Given the description of an element on the screen output the (x, y) to click on. 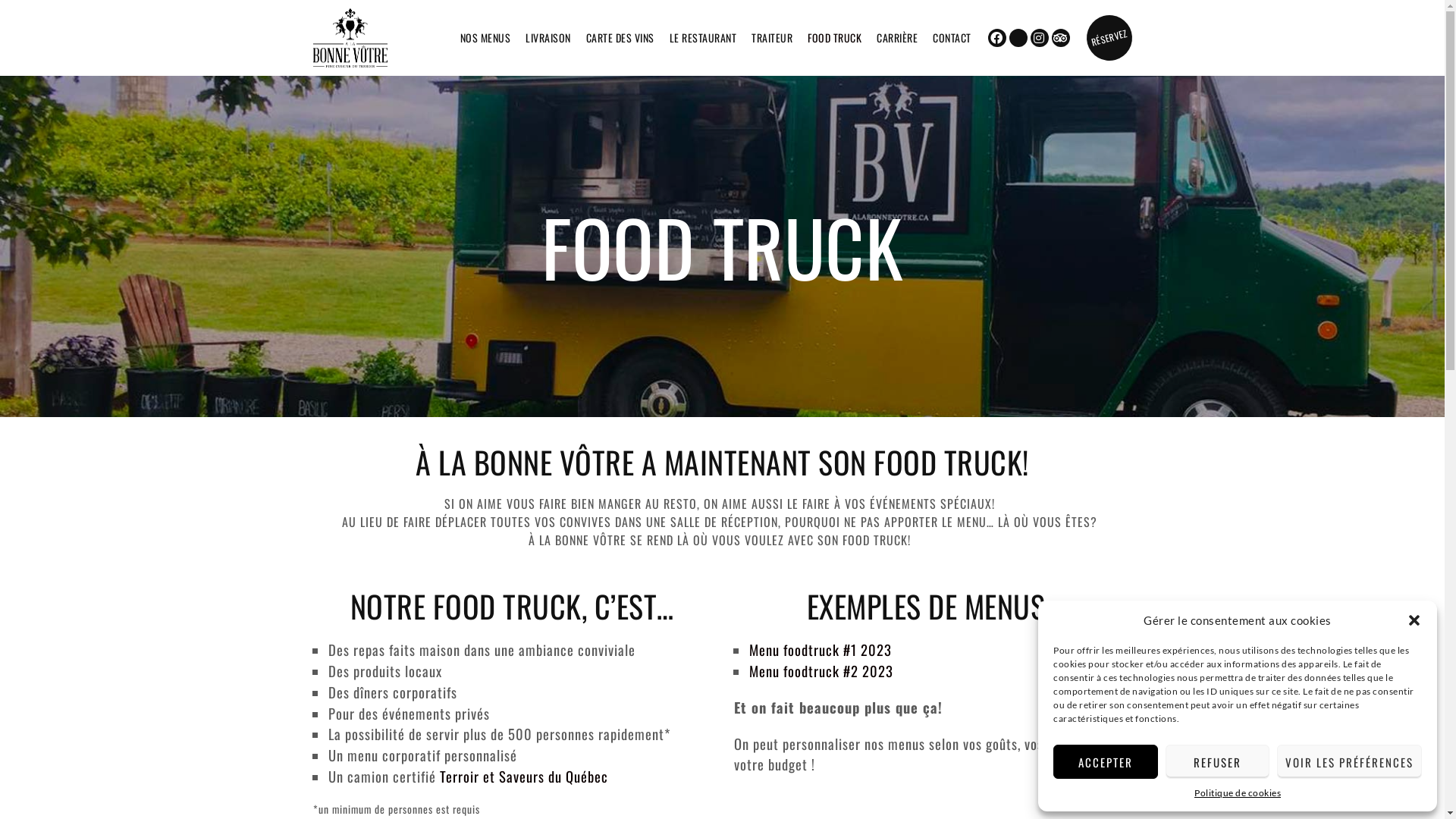
CONTACT Element type: text (951, 37)
LIVRAISON Element type: text (548, 37)
NOS MENUS Element type: text (484, 37)
Menu foodtruck #1 2023 Element type: text (820, 649)
TRAITEUR Element type: text (771, 37)
REFUSER Element type: text (1216, 761)
Menu foodtruck #2 2023 Element type: text (821, 670)
Politique de cookies Element type: text (1237, 793)
LE RESTAURANT Element type: text (702, 37)
FOOD TRUCK Element type: text (834, 37)
ACCEPTER Element type: text (1105, 761)
CARTE DES VINS Element type: text (619, 37)
